Given the description of an element on the screen output the (x, y) to click on. 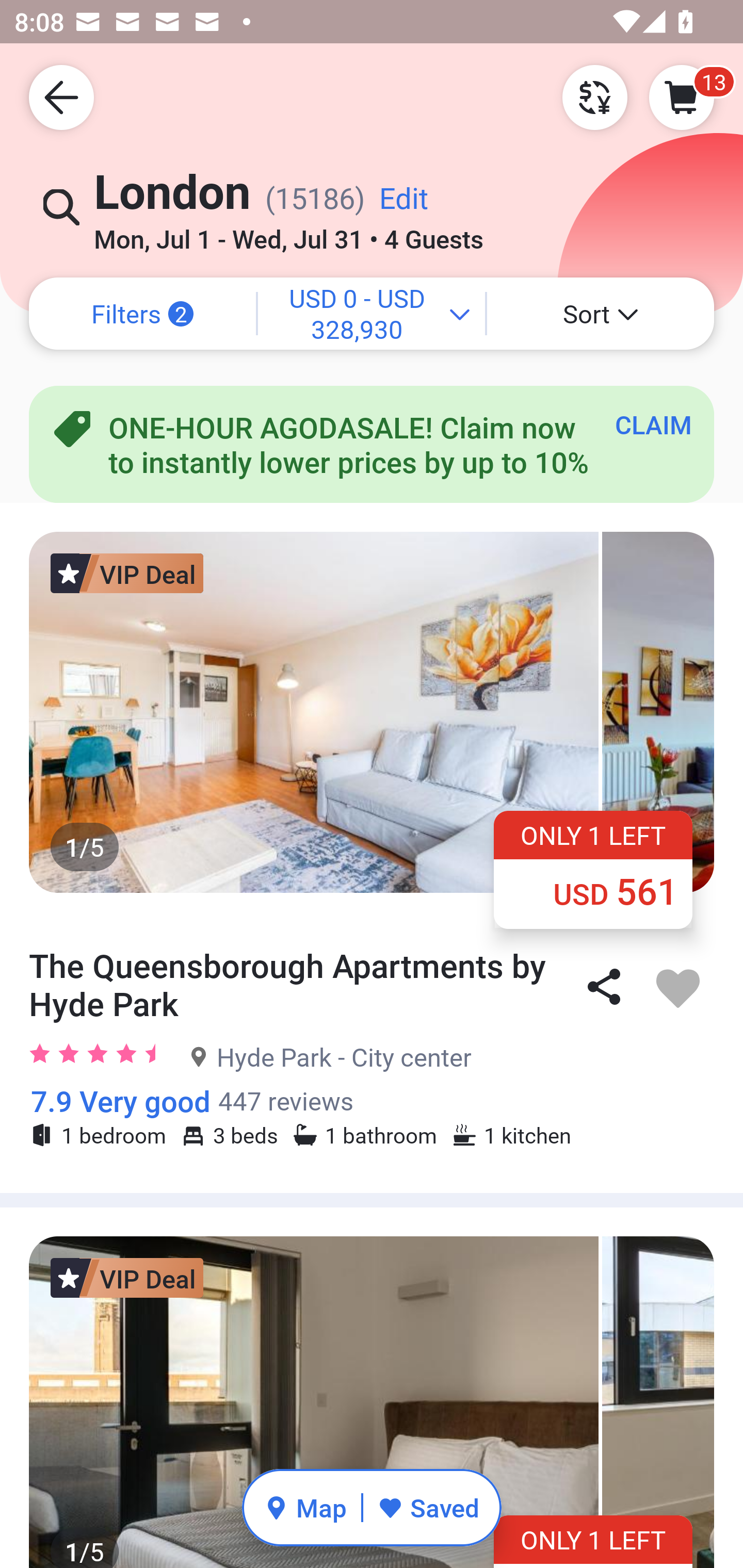
Filters 2 (141, 313)
⁦USD 0⁩ - ⁦USD 328,930⁩ (371, 313)
Sort (600, 313)
CLAIM (653, 424)
VIP Deal (126, 572)
1/5 (371, 711)
ONLY 1 LEFT ‪USD 561 (593, 869)
VIP Deal (126, 1278)
1/5 (371, 1401)
Map (305, 1507)
Saved (428, 1507)
ONLY 1 LEFT (593, 1541)
